Given the description of an element on the screen output the (x, y) to click on. 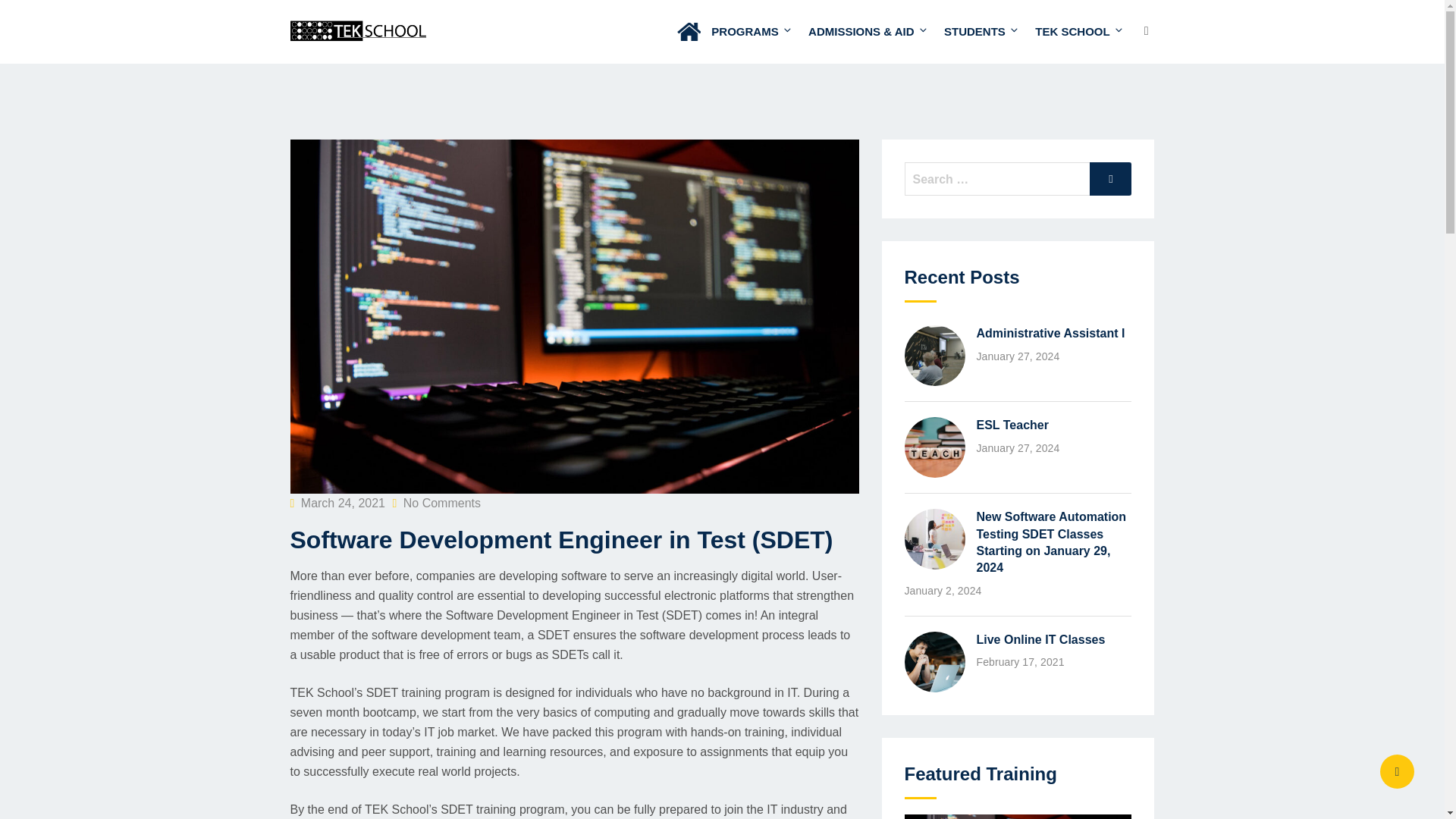
PROGRAMS (749, 31)
STUDENTS (980, 31)
TEK SCHOOL (1074, 31)
